Given the description of an element on the screen output the (x, y) to click on. 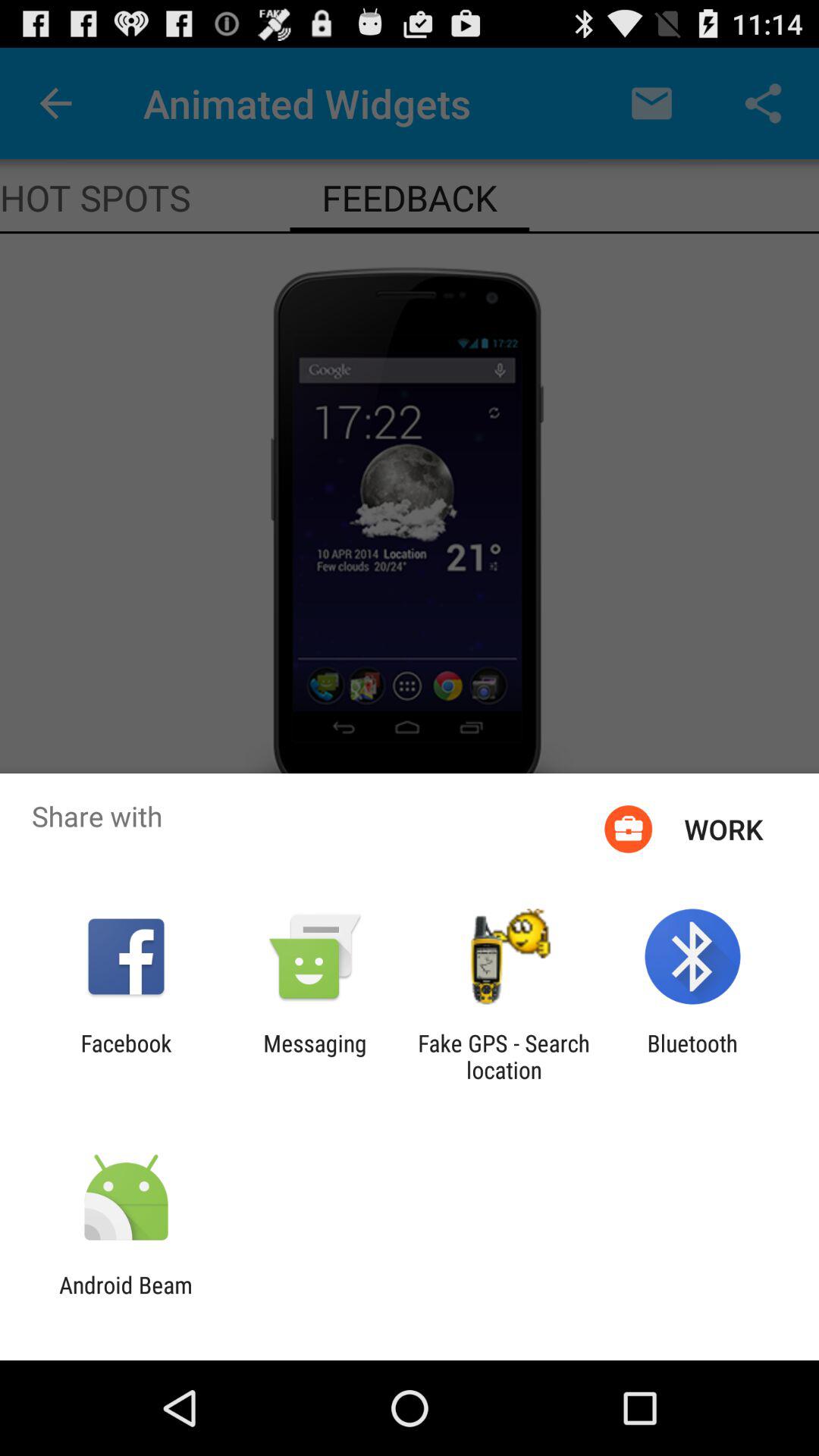
jump to the fake gps search (503, 1056)
